Given the description of an element on the screen output the (x, y) to click on. 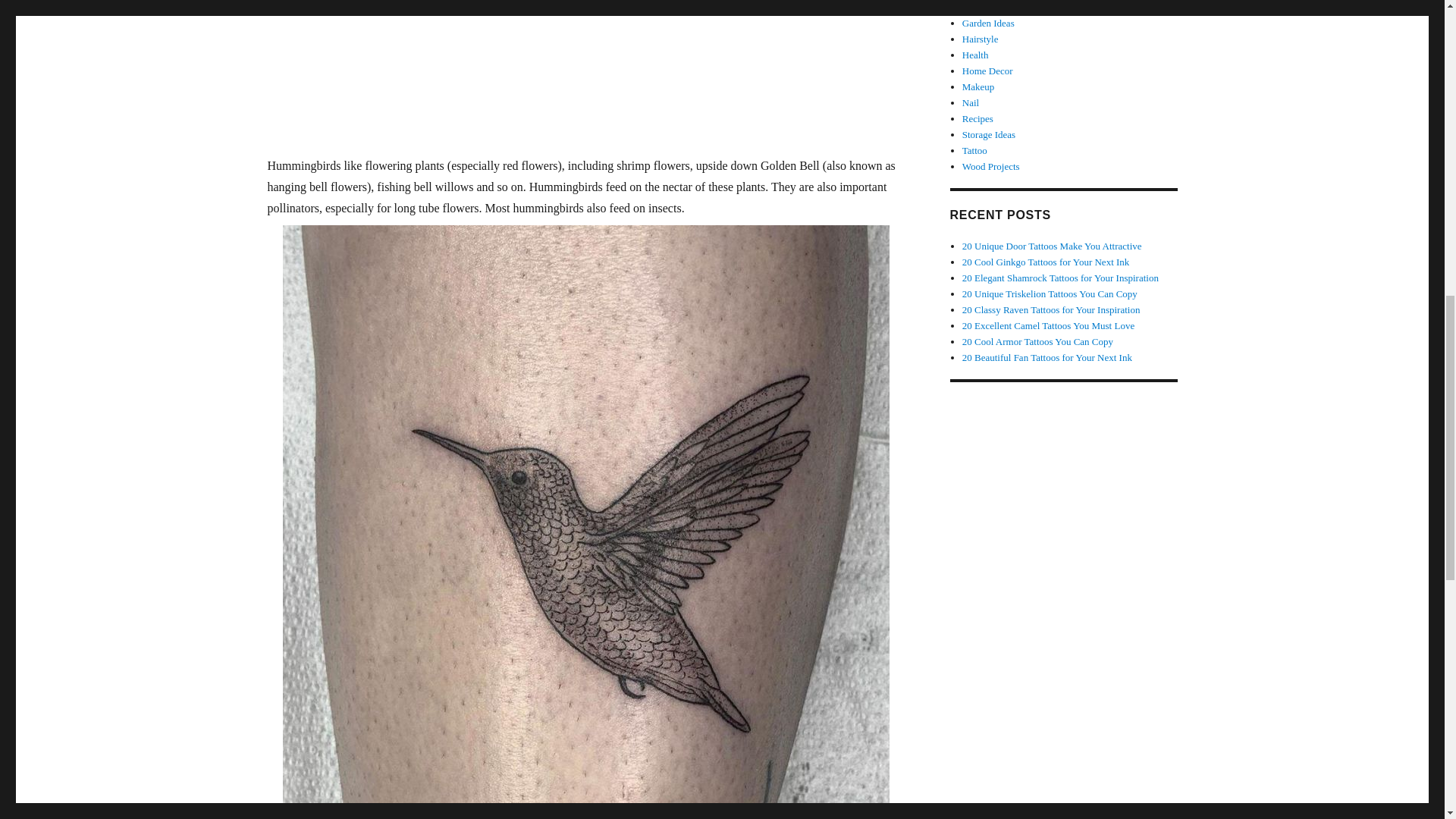
Advertisement (585, 74)
20 Beautiful Fan Tattoos for Your Next Ink (1047, 357)
20 Unique Triskelion Tattoos You Can Copy (1049, 293)
20 Unique Door Tattoos Make You Attractive (1051, 245)
20 Cool Ginkgo Tattoos for Your Next Ink (1045, 261)
20 Excellent Camel Tattoos You Must Love (1048, 325)
20 Cool Armor Tattoos You Can Copy (1037, 341)
20 Elegant Shamrock Tattoos for Your Inspiration (1060, 277)
20 Classy Raven Tattoos for Your Inspiration (1051, 309)
